Given the description of an element on the screen output the (x, y) to click on. 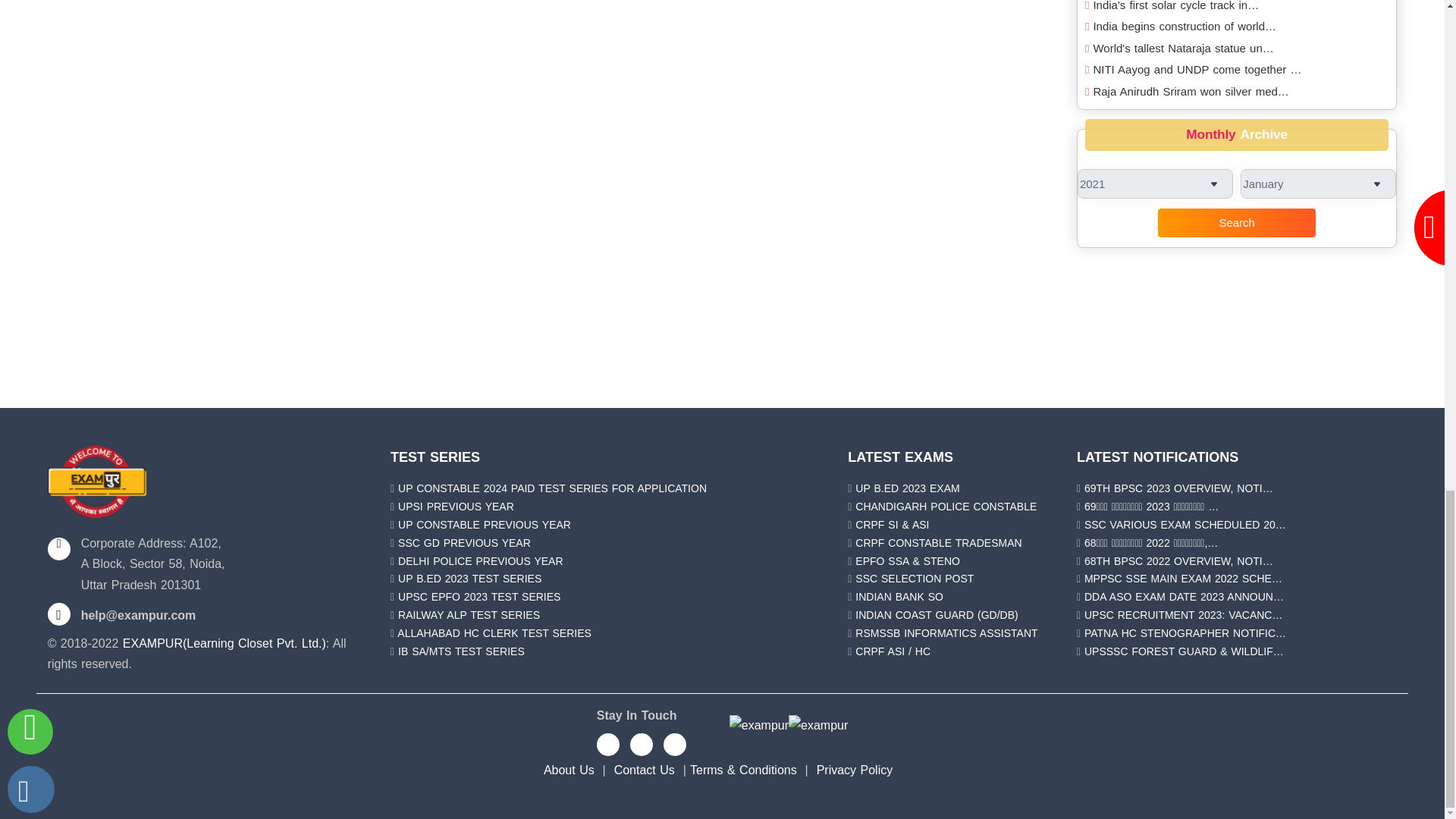
SSC VARIOUS EXAM SCHEDULED 2022: CHECK YOUR EXAM DATE HERE (1184, 524)
DDA ASO EXAM DATE 2023 ANNOUNCED: ADMIT CARD DETAILS (1184, 596)
MPPSC SSE MAIN EXAM 2022 SCHEDULE: GET YOUR ADMIT CARD (1183, 578)
